Given the description of an element on the screen output the (x, y) to click on. 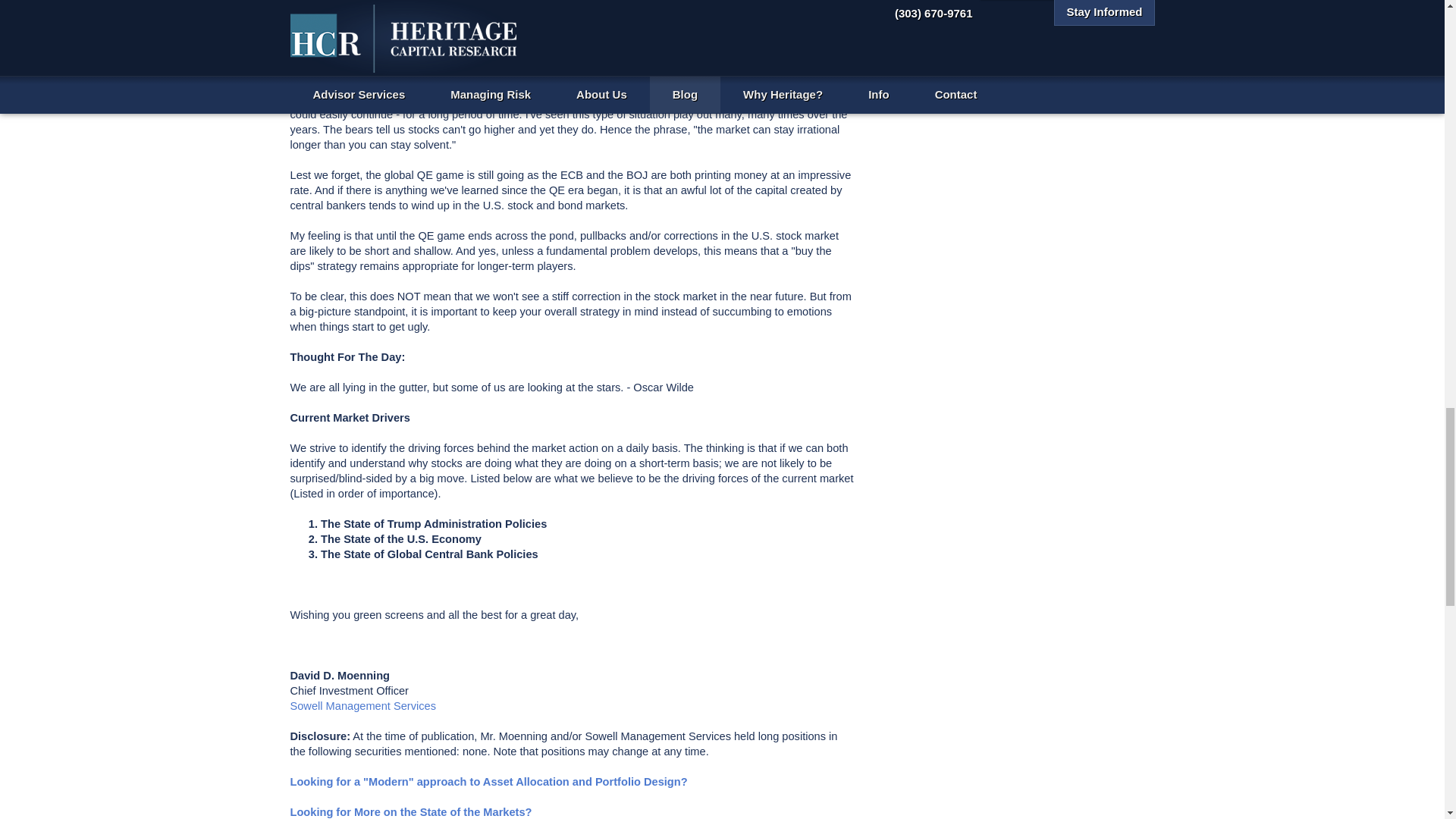
Looking for More on the State of the Markets? (410, 811)
Sowell Management Services (362, 705)
